Given the description of an element on the screen output the (x, y) to click on. 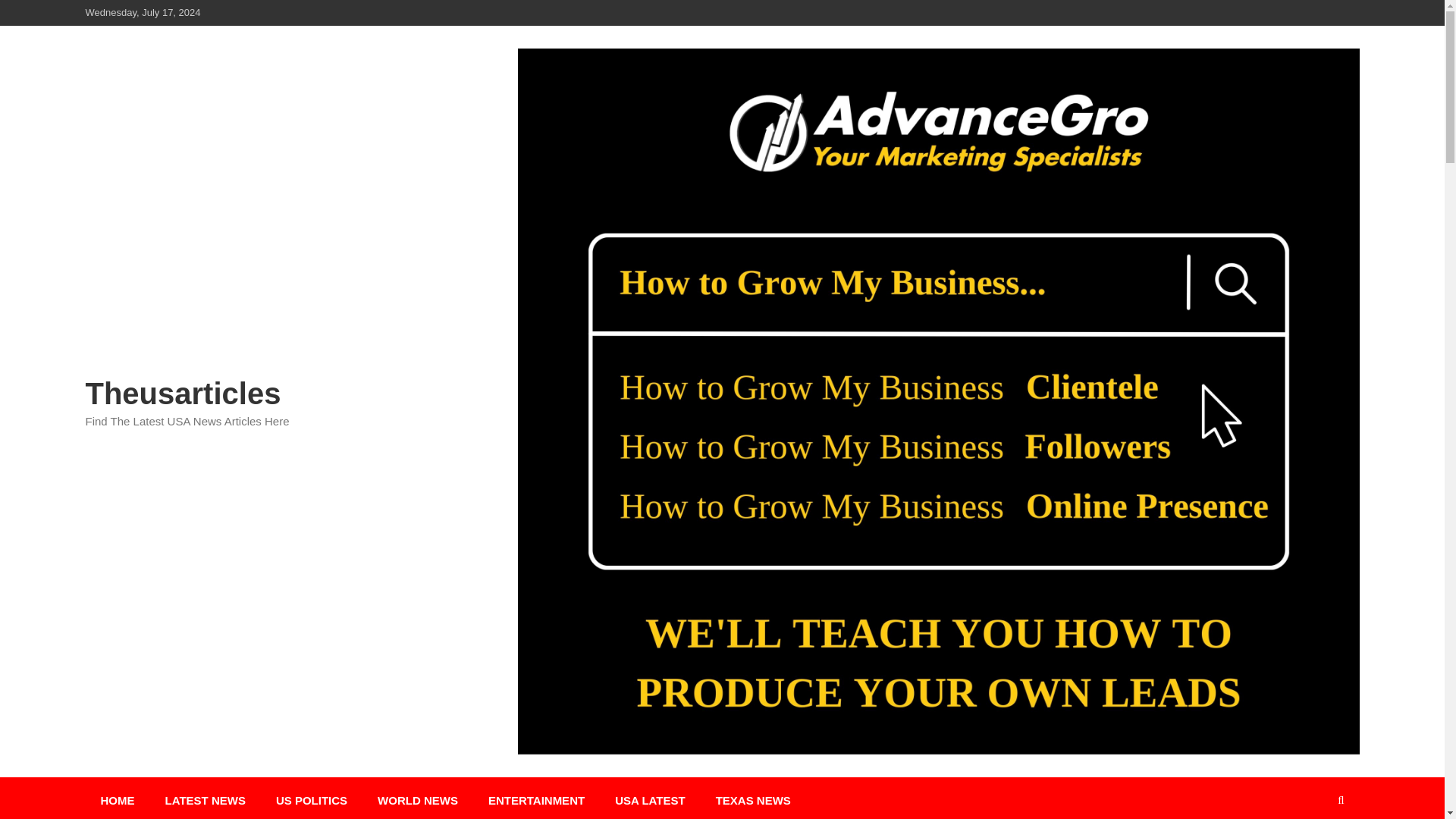
US POLITICS (311, 798)
ENTERTAINMENT (536, 798)
LATEST NEWS (204, 798)
USA LATEST (649, 798)
HOME (116, 798)
TEXAS NEWS (753, 798)
WORLD NEWS (417, 798)
Theusarticles (182, 393)
